Given the description of an element on the screen output the (x, y) to click on. 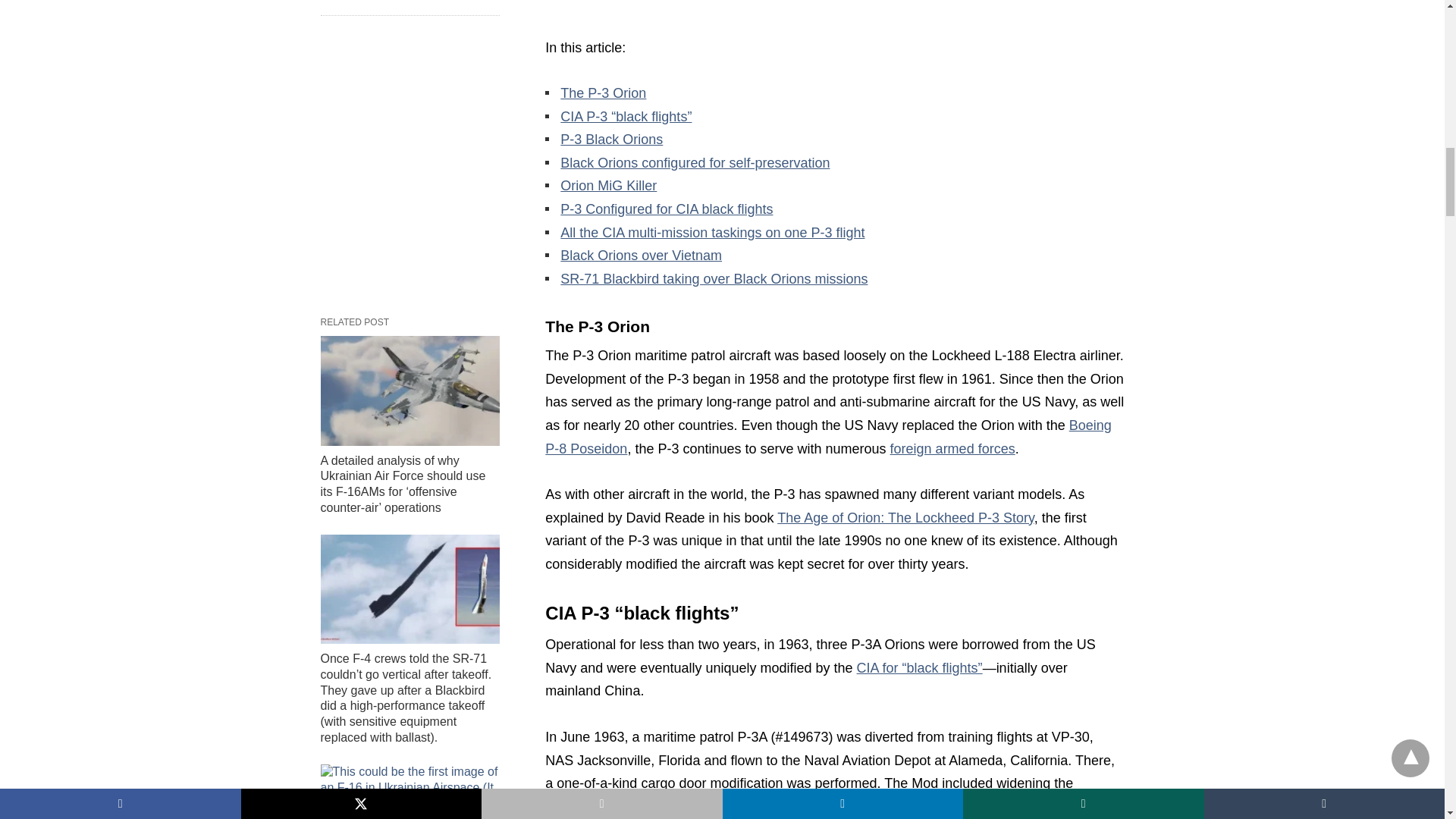
P-3 Configured for CIA black flights (666, 209)
The P-3 Orion (603, 92)
SR-71 Blackbird taking over Black Orions missions (713, 278)
Black Orions configured for self-preservation (694, 162)
3rd party ad content (834, 6)
P-3 Black Orions (611, 139)
Black Orions over Vietnam (641, 255)
Orion MiG Killer (608, 185)
Black Orions configured for self-preservation (694, 162)
The P-3 Orion (603, 92)
P-3 Black Orions (611, 139)
Orion MiG Killer (608, 185)
All the CIA multi-mission taskings on one P-3 flight (712, 232)
P-3 Configured for CIA black flights (666, 209)
